Given the description of an element on the screen output the (x, y) to click on. 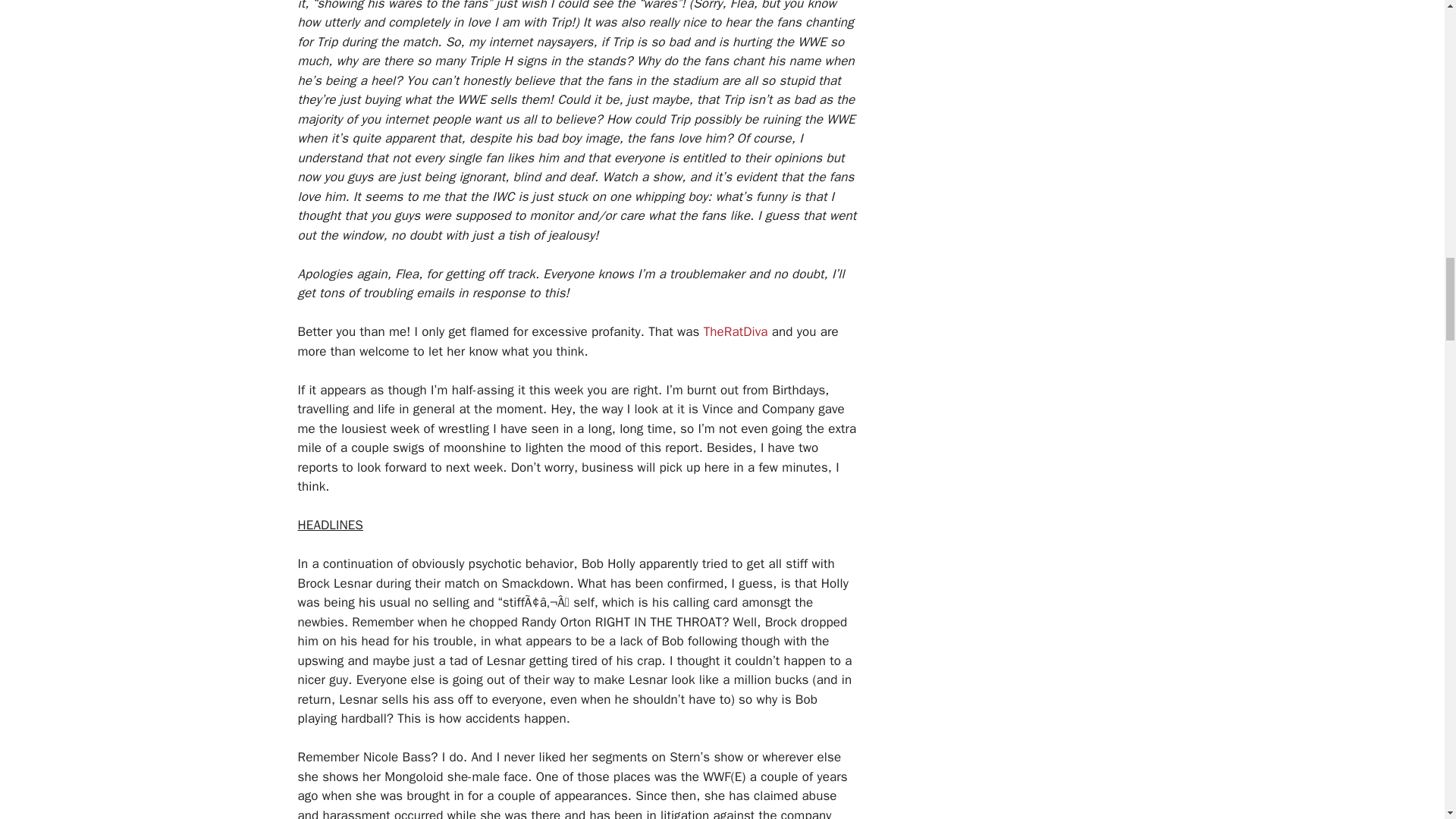
TheRatDiva (735, 331)
